Given the description of an element on the screen output the (x, y) to click on. 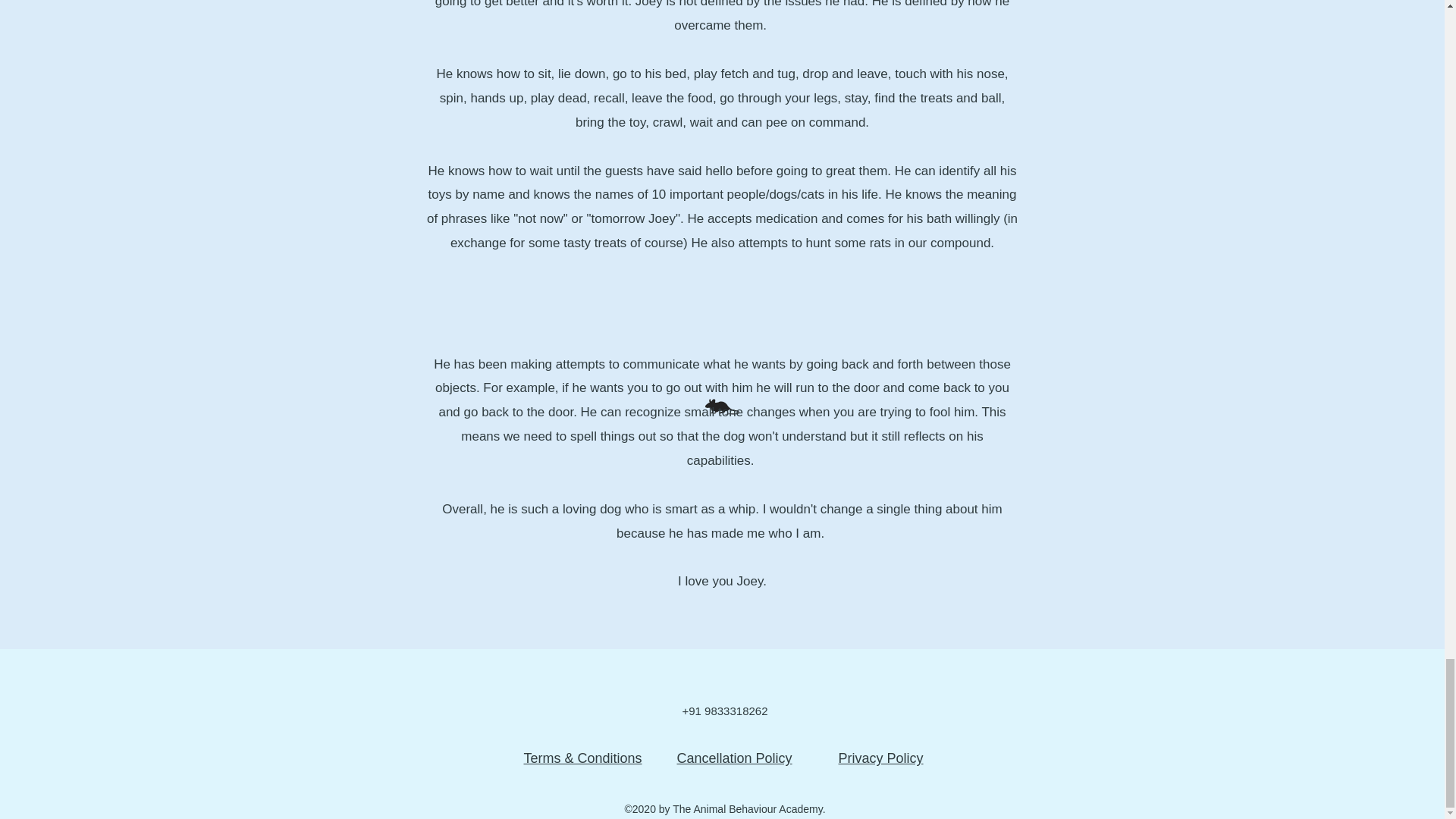
Cancellation Policy (734, 758)
Privacy Policy (880, 758)
